Given the description of an element on the screen output the (x, y) to click on. 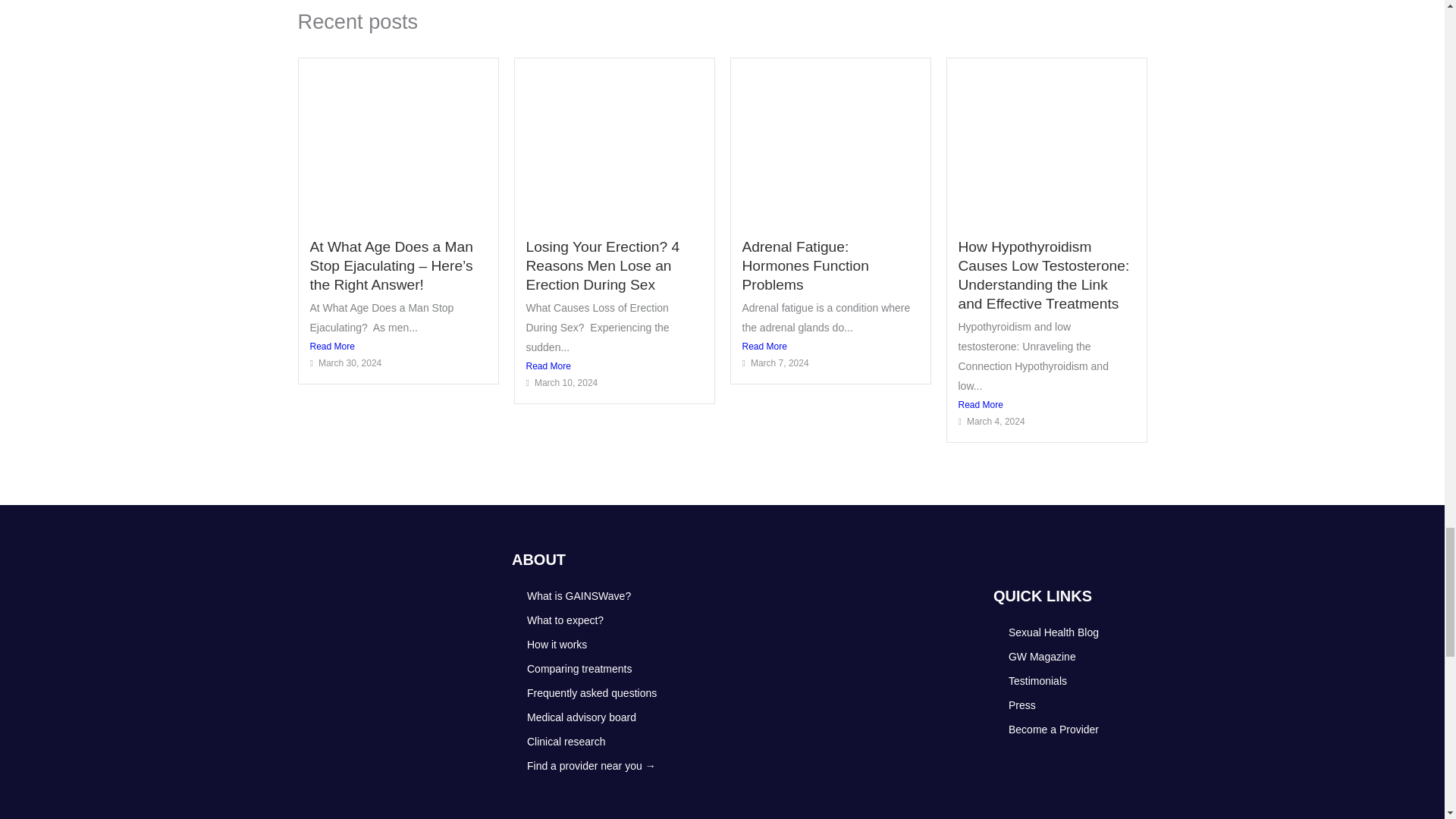
Adrenal Fatigue: Hormones Function Problems (804, 265)
